Given the description of an element on the screen output the (x, y) to click on. 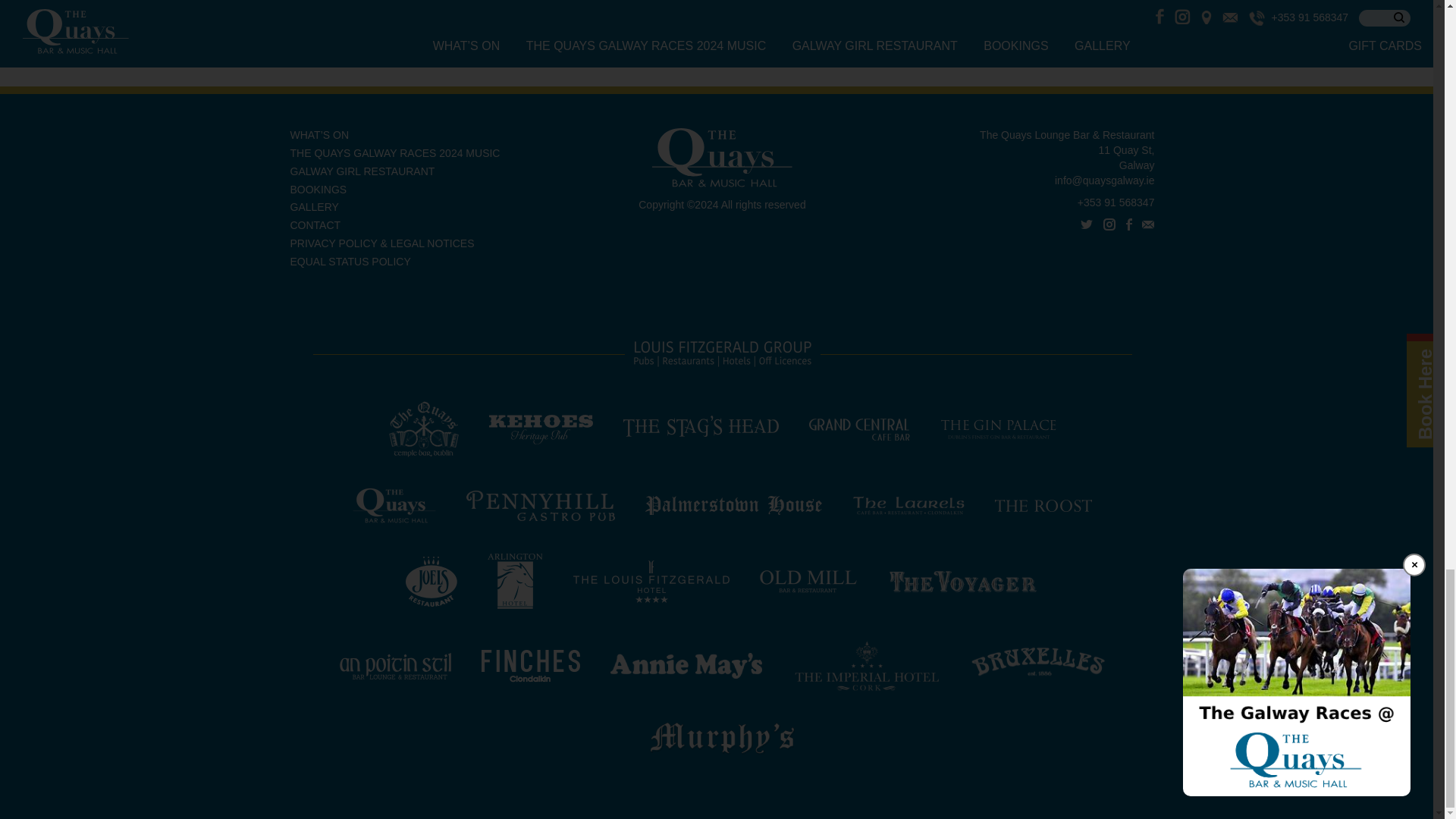
Get in Touch (1147, 224)
Follow us on Instagram (1109, 224)
The Gin Palace, Middle Abbey Street (998, 428)
The Laurels, Clondalkin (907, 504)
Joel's Restaurant, Newlands Cross (431, 580)
Arlington Hotel, Bachelors Walk (515, 580)
Follow us on Twitter (1086, 224)
Kehoe's Heritage Pub, South Ann Street (539, 428)
The Stag's Head, Dame Court (700, 428)
Palmerstown House (733, 504)
The Quays, Temple Bar (423, 428)
Pennyhill Gastro Pub, Lucan (539, 504)
The Roost, Maynooth (1043, 504)
